Given the description of an element on the screen output the (x, y) to click on. 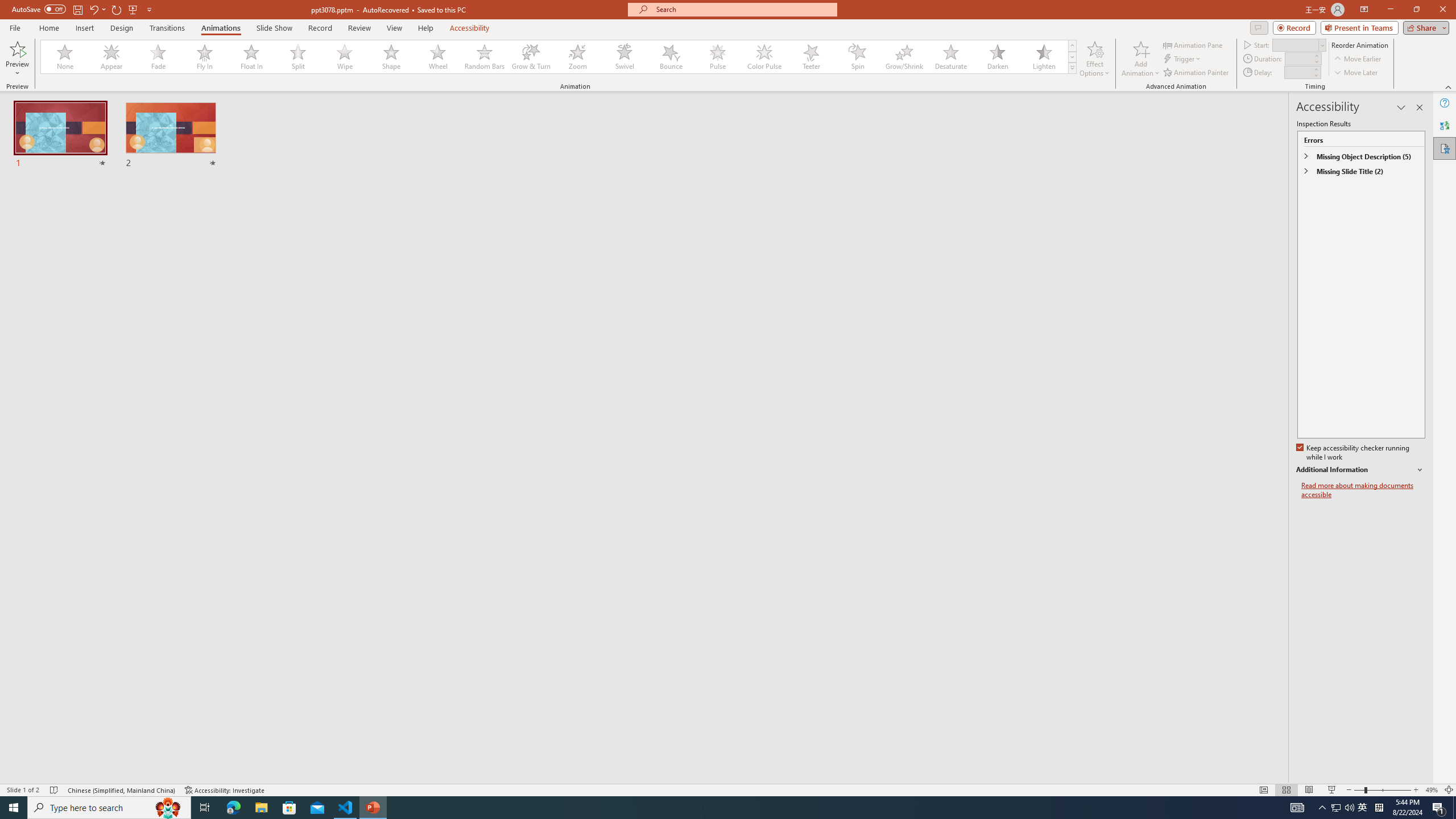
Lighten (1043, 56)
Grow & Turn (531, 56)
Bounce (670, 56)
Animation Delay (1297, 72)
Wipe (344, 56)
Trigger (1182, 58)
Move Later (1355, 72)
Animation Styles (1071, 67)
Zoom 49% (1431, 790)
